Given the description of an element on the screen output the (x, y) to click on. 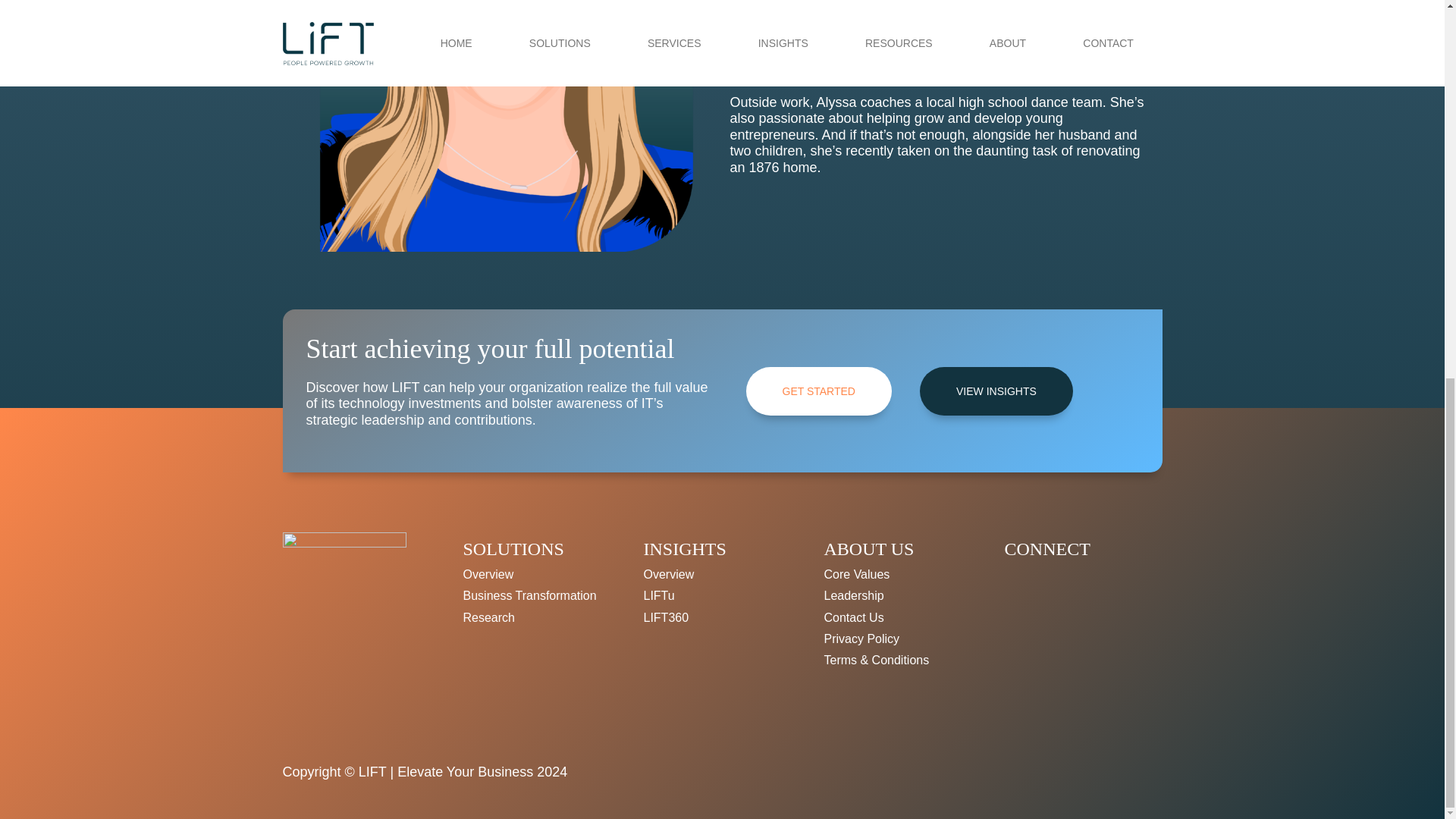
Core Values (856, 574)
LIFTu (658, 595)
Privacy Policy (861, 638)
GET STARTED (818, 391)
Contact Us (853, 617)
Business Transformation (529, 595)
LIFT360 (665, 617)
VIEW INSIGHTS (996, 391)
Overview (488, 574)
Leadership (853, 595)
Research (488, 617)
Overview (668, 574)
